Given the description of an element on the screen output the (x, y) to click on. 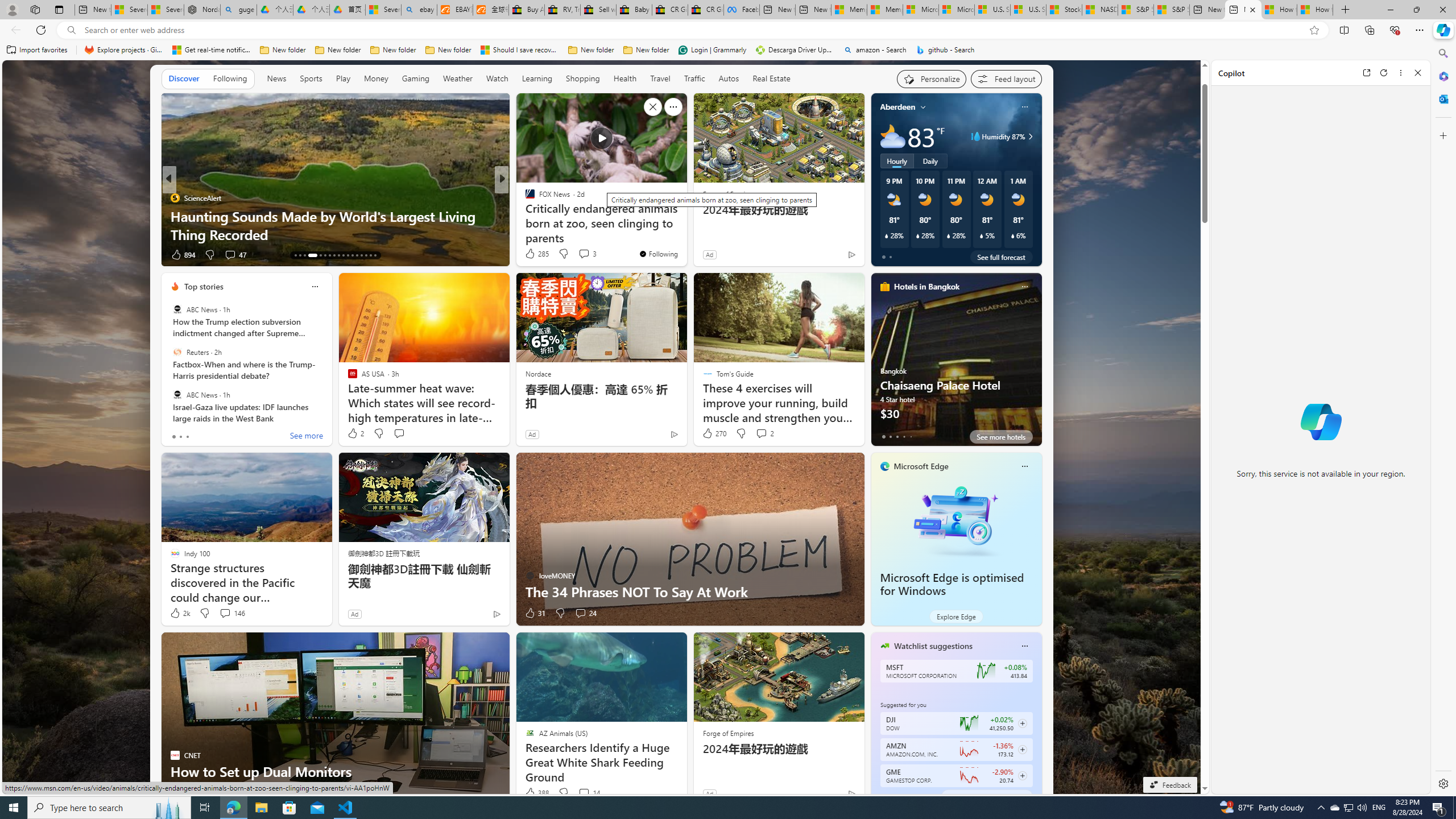
You're following FOX News (657, 253)
Ad (708, 793)
Feedback (1169, 784)
Import favorites (36, 49)
Shopping (583, 79)
View comments 123 Comment (576, 254)
Ad Choice (851, 793)
Baby Keepsakes & Announcements for sale | eBay (633, 9)
Don't trust AI for these 4 things (684, 234)
New folder (646, 49)
Buy Auto Parts & Accessories | eBay (525, 9)
AutomationID: tab-42 (374, 255)
